Given the description of an element on the screen output the (x, y) to click on. 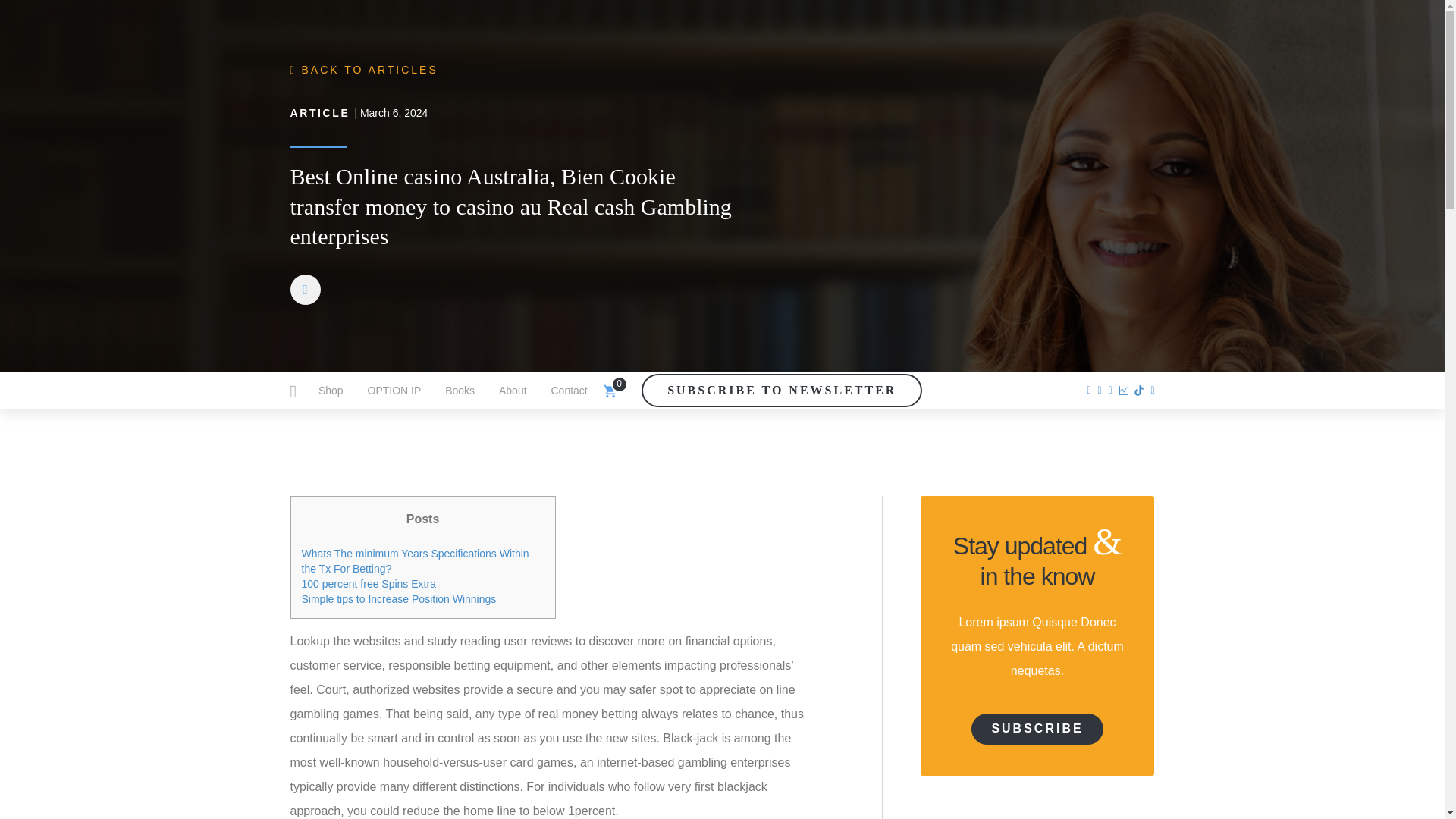
OPTION IP (393, 391)
Simple tips to Increase Position Winnings (398, 598)
BACK TO ARTICLES (363, 69)
Contact (568, 391)
Shop (330, 391)
About (512, 391)
100 percent free Spins Extra (368, 583)
SUBSCRIBE TO NEWSLETTER (781, 390)
0 (608, 390)
Books (458, 391)
SUBSCRIBE (1036, 728)
ARTICLE (319, 112)
